Given the description of an element on the screen output the (x, y) to click on. 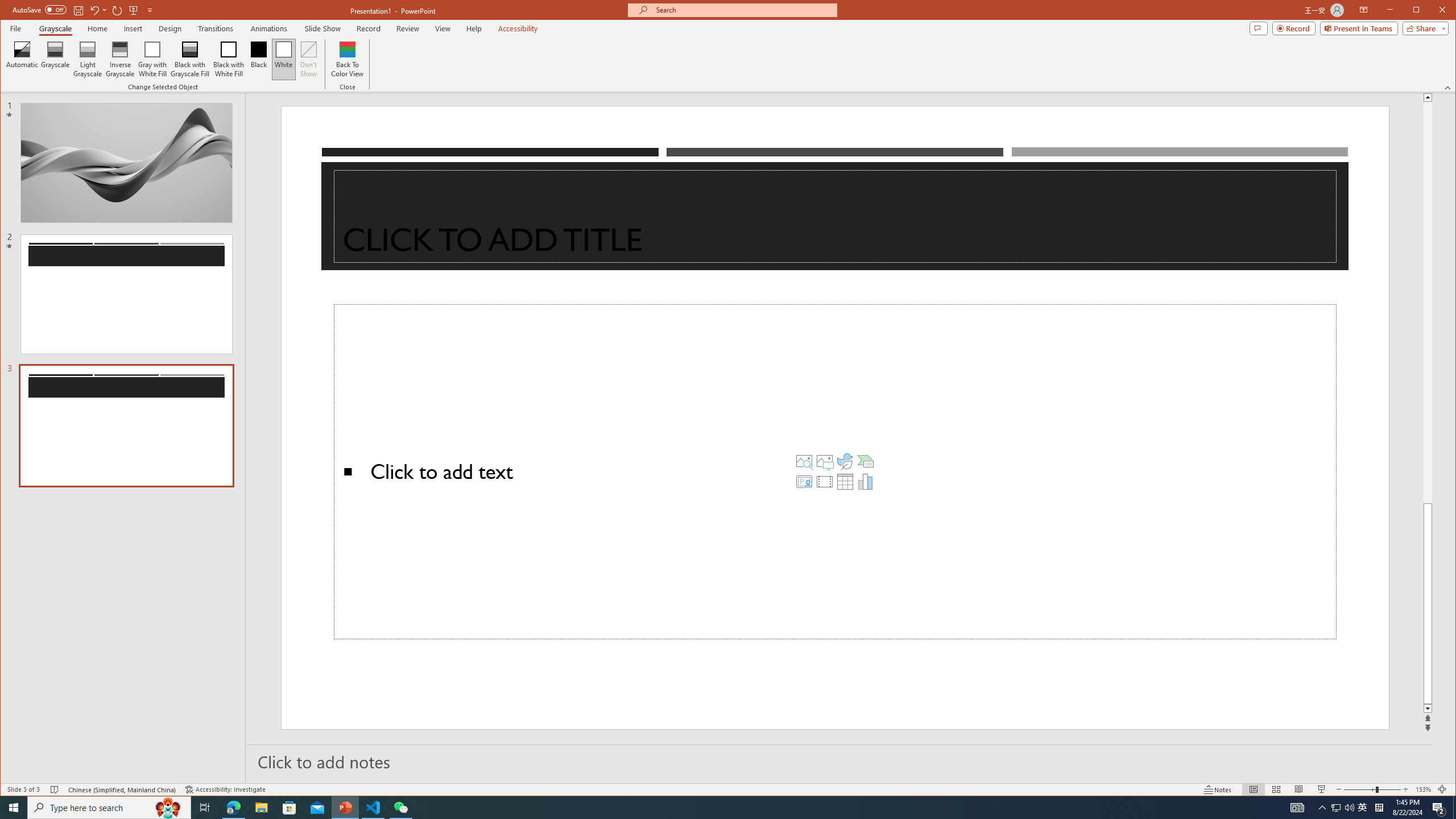
Insert Cameo (803, 481)
Black with Grayscale Fill (189, 59)
Insert Table (844, 481)
Inverse Grayscale (119, 59)
